Given the description of an element on the screen output the (x, y) to click on. 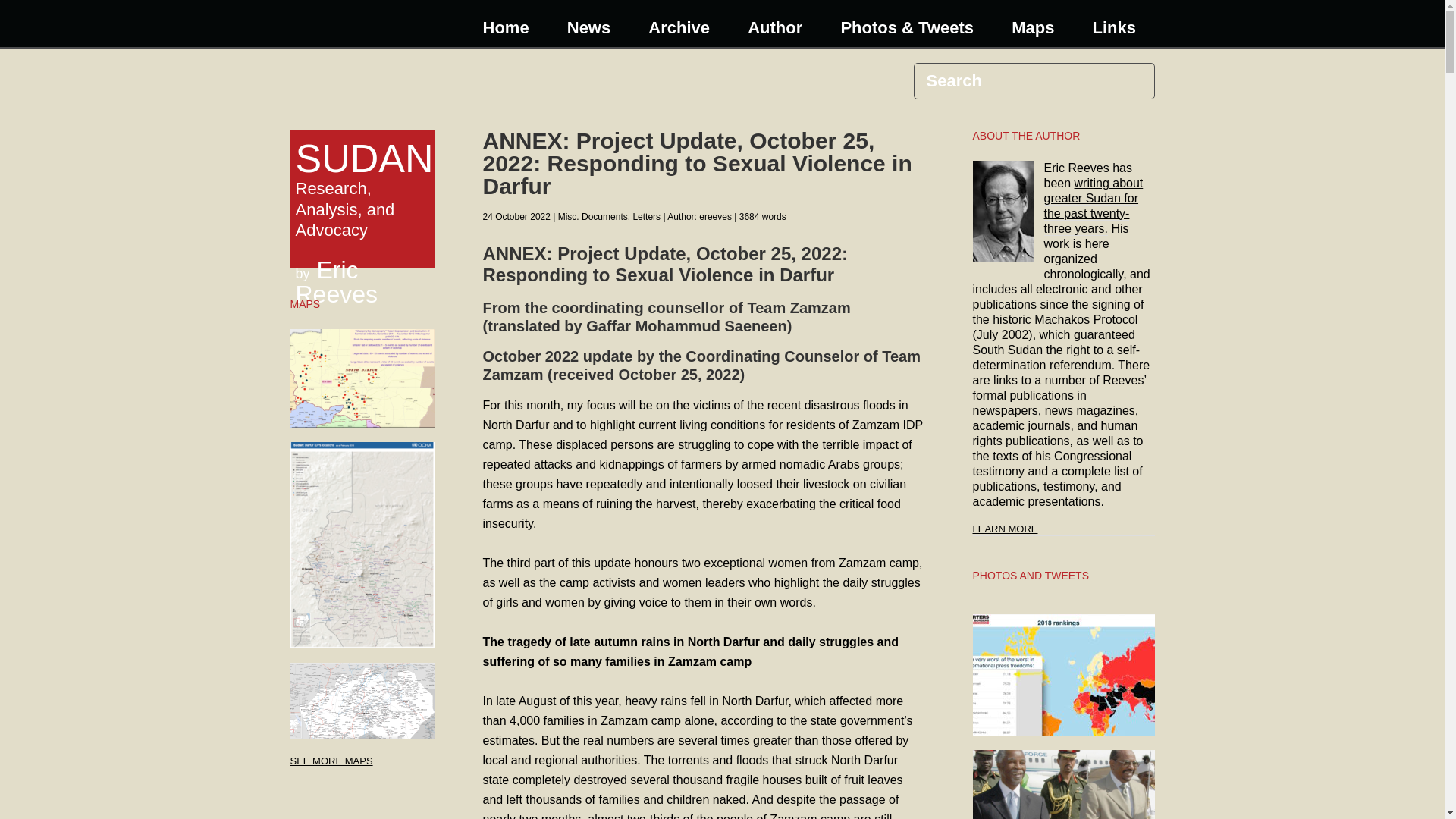
News (587, 27)
SEE MORE MAPS (330, 761)
Links (1112, 27)
Archive (677, 27)
Maps (1030, 27)
Maps (330, 761)
Author (772, 27)
writing about greater Sudan for the past twenty-three years. (1092, 205)
